Given the description of an element on the screen output the (x, y) to click on. 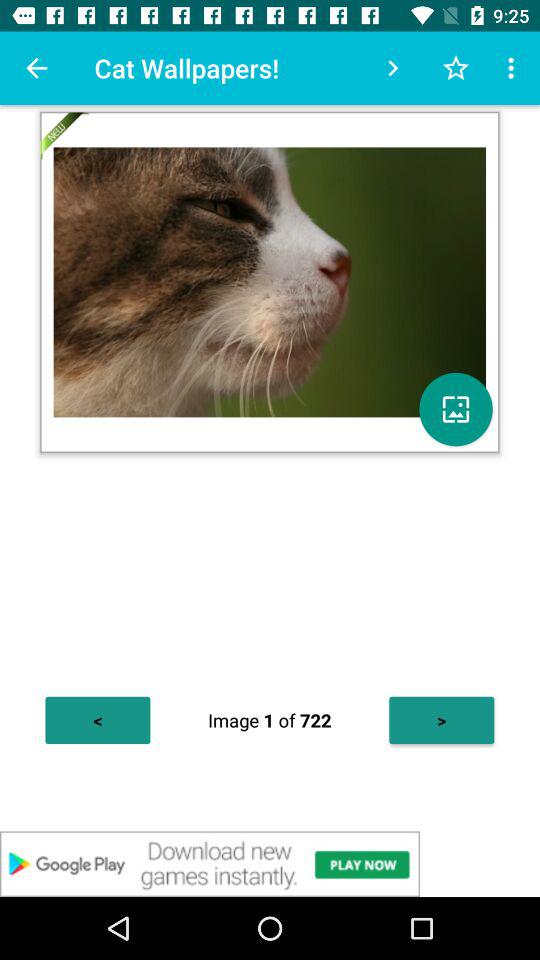
advertisement page (270, 864)
